Given the description of an element on the screen output the (x, y) to click on. 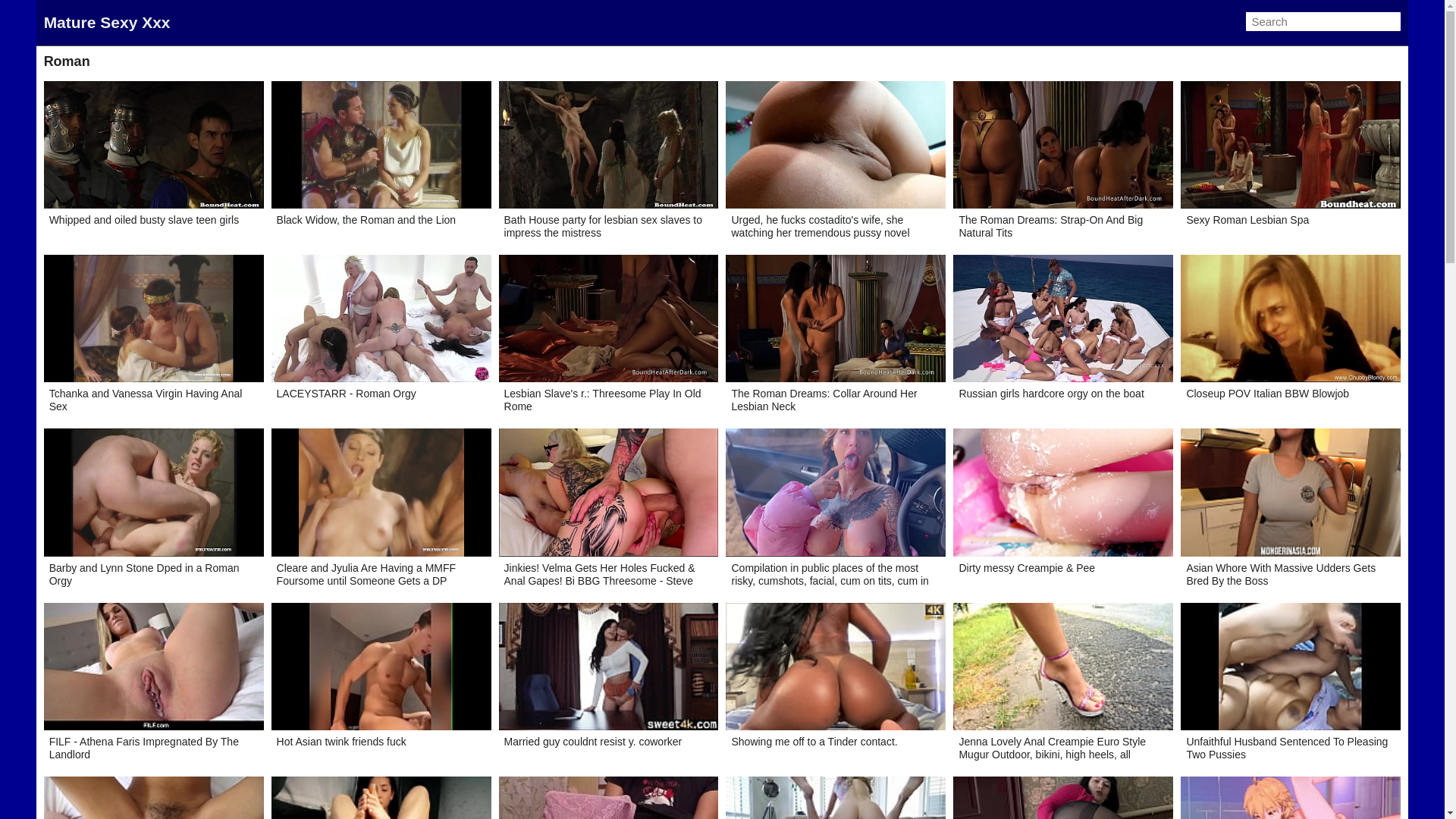
Mature Sexy Xxx Element type: text (106, 22)
